Given the description of an element on the screen output the (x, y) to click on. 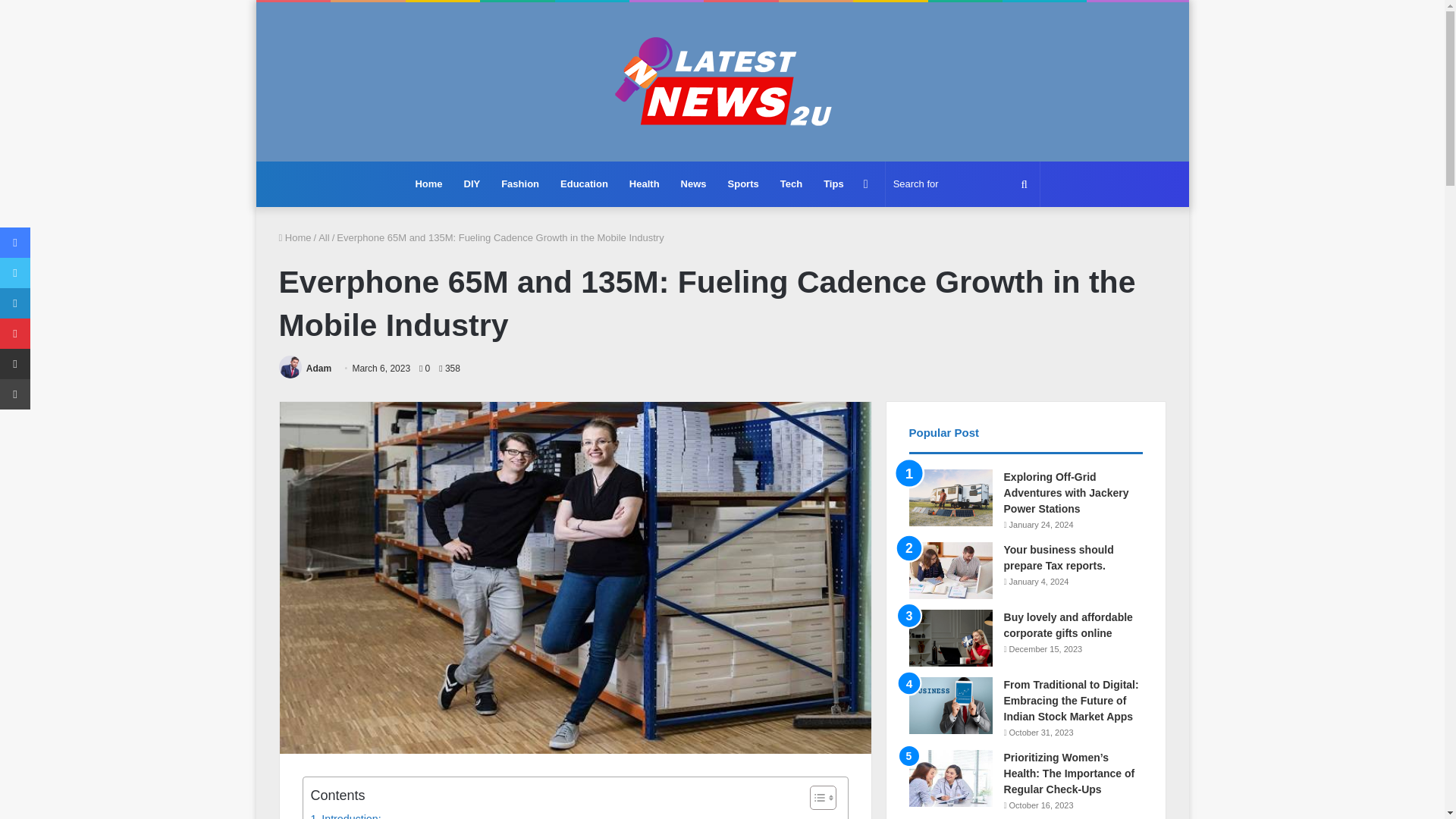
Home (428, 184)
Education (584, 184)
Home (295, 237)
Switch skin (865, 184)
Switch skin (865, 184)
Adam (318, 368)
Search for (962, 184)
Health (643, 184)
News (693, 184)
All (323, 237)
LatestNews2u (721, 81)
Sports (743, 184)
DIY (472, 184)
Introduction: (346, 814)
Introduction: (346, 814)
